Given the description of an element on the screen output the (x, y) to click on. 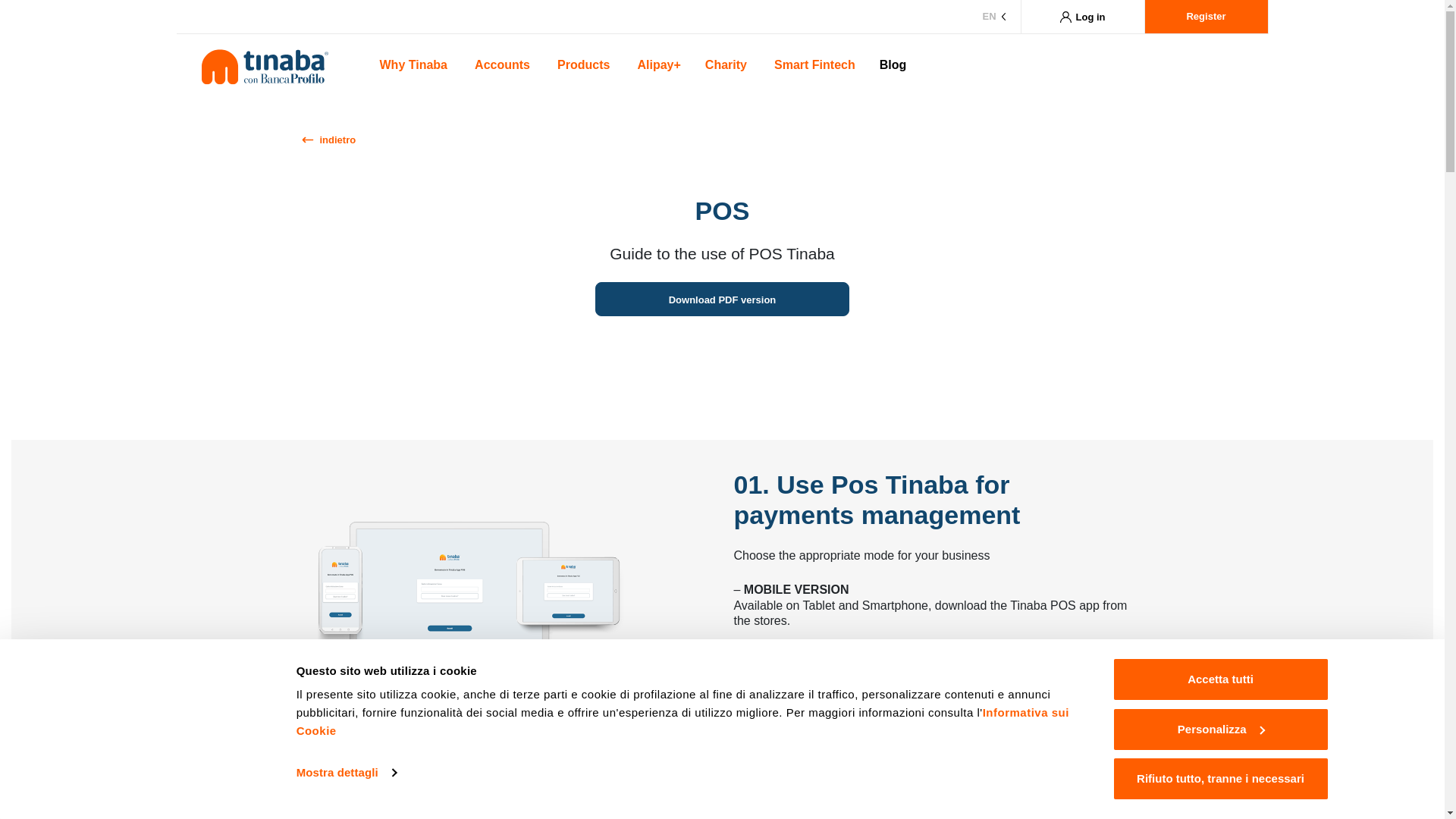
Mostra dettagli (346, 772)
Why Tinaba (414, 67)
Informativa sui Cookie (682, 721)
